Given the description of an element on the screen output the (x, y) to click on. 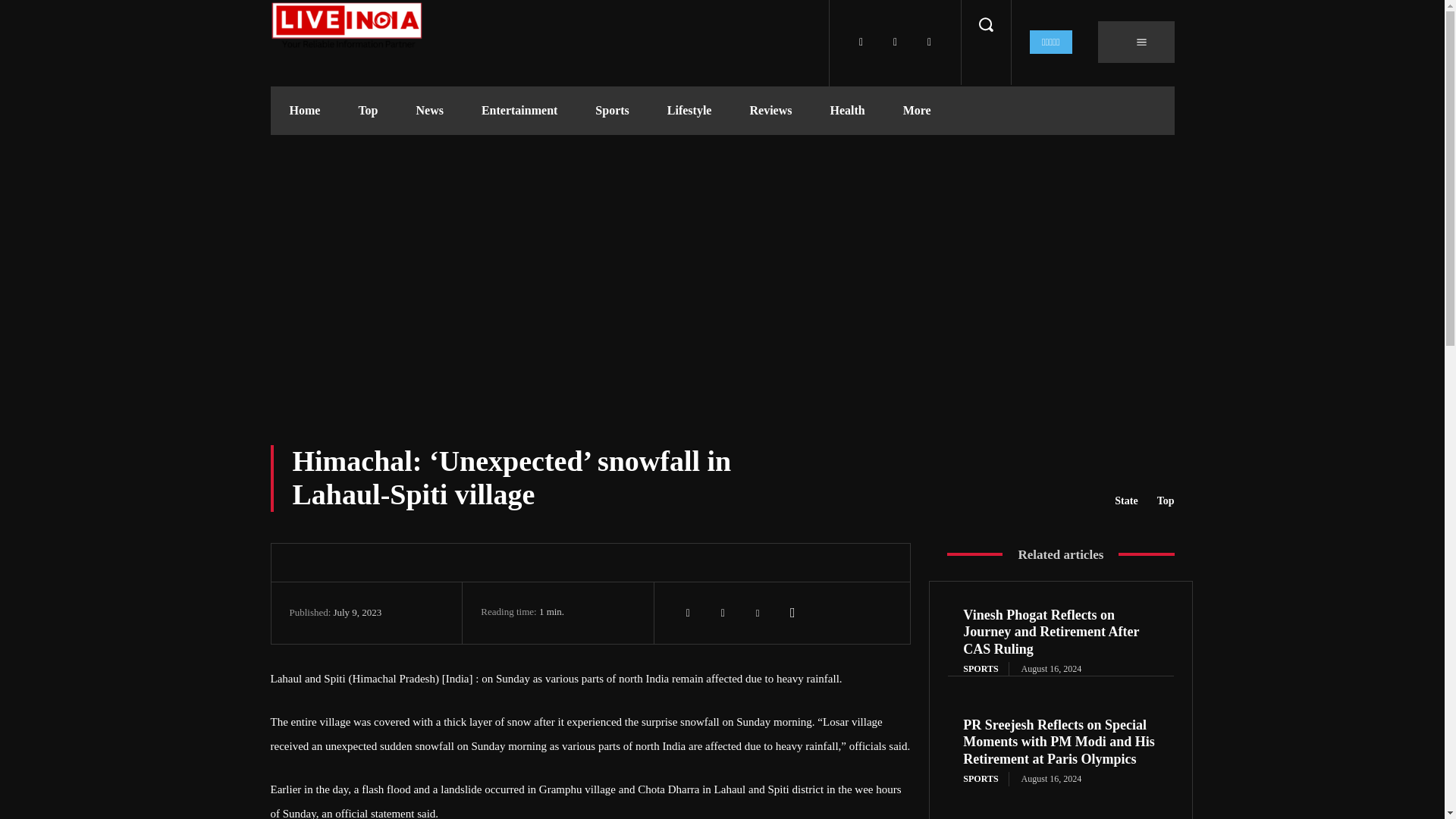
Facebook (861, 41)
Twitter (895, 41)
Youtube (928, 41)
